Given the description of an element on the screen output the (x, y) to click on. 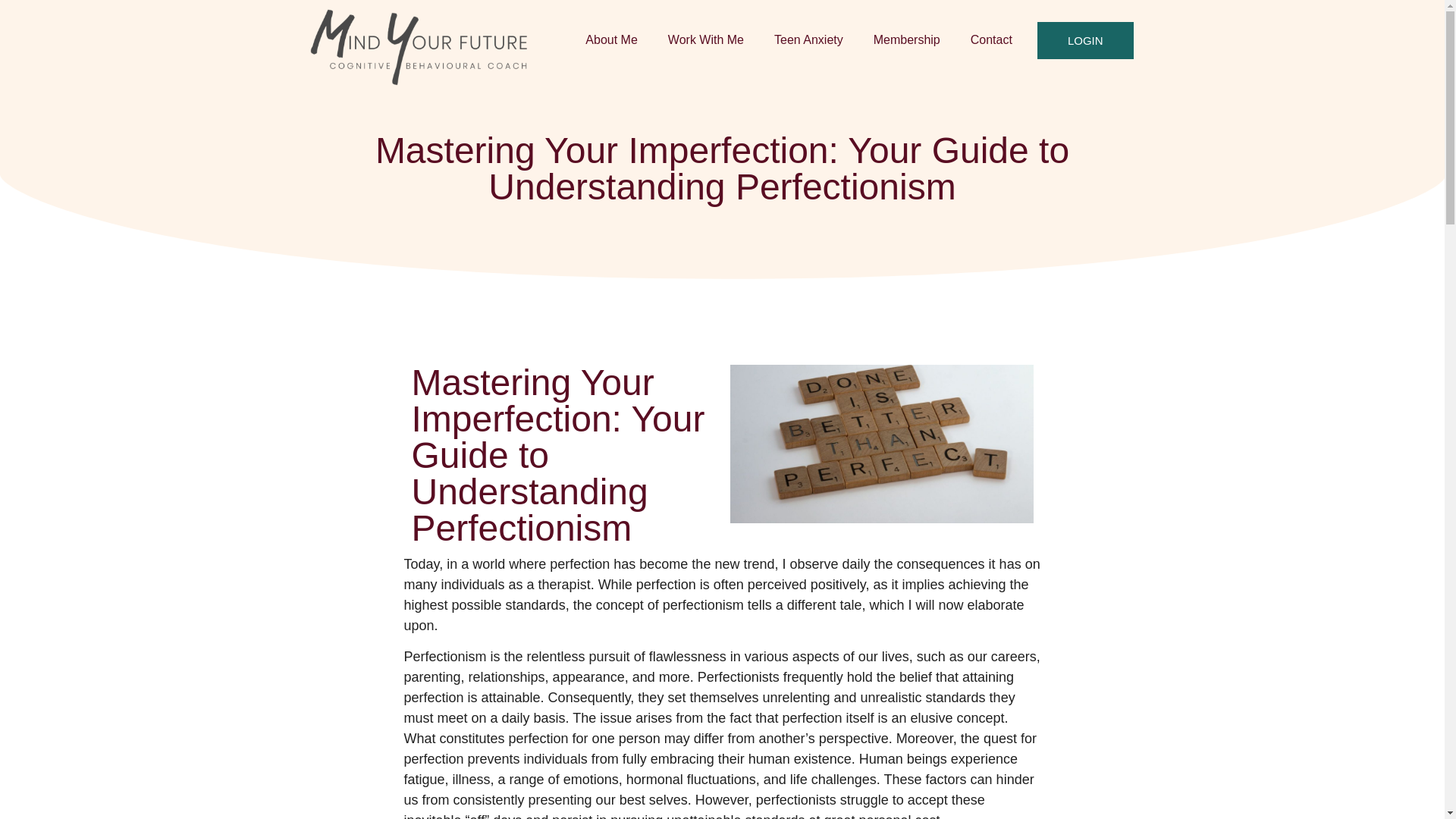
Work With Me (705, 39)
About Me (611, 39)
Contact (991, 39)
Membership (907, 39)
Teen Anxiety (808, 39)
LOGIN (1085, 40)
